Given the description of an element on the screen output the (x, y) to click on. 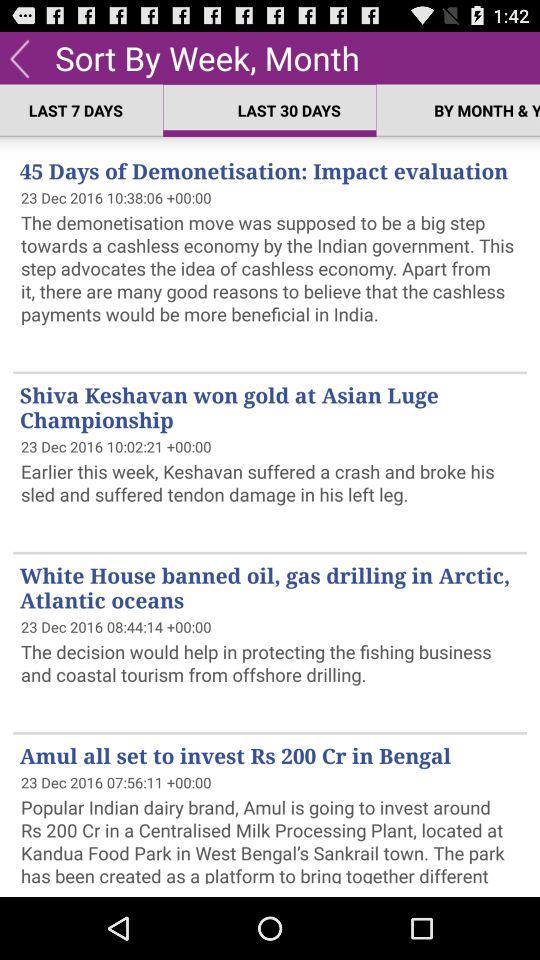
choose the app to the left of sort by week (19, 57)
